Given the description of an element on the screen output the (x, y) to click on. 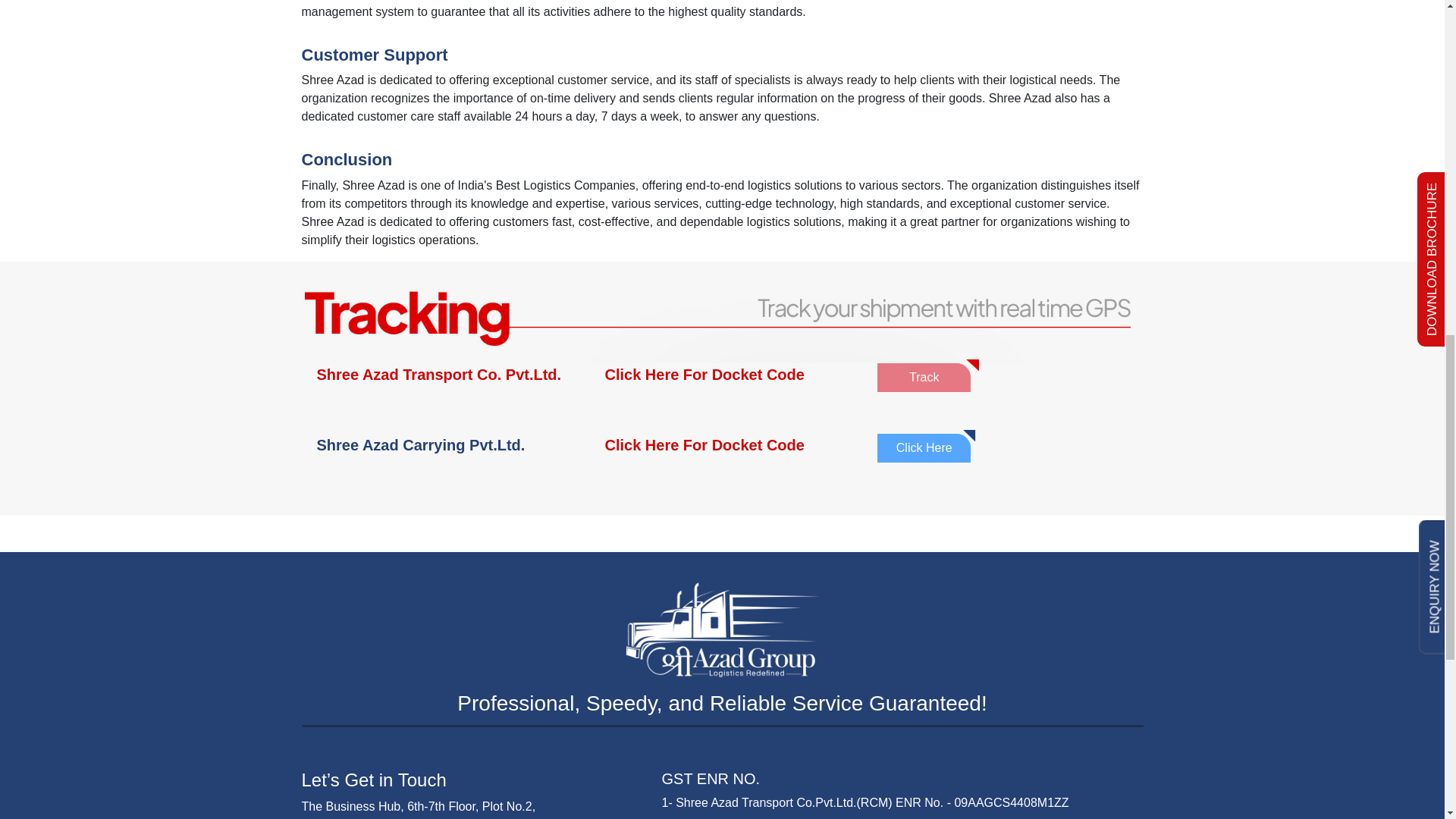
Click Here For Docket Code (721, 445)
Click Here (926, 446)
Click Here For Docket Code (721, 374)
Click Here (923, 448)
Track (923, 377)
